Given the description of an element on the screen output the (x, y) to click on. 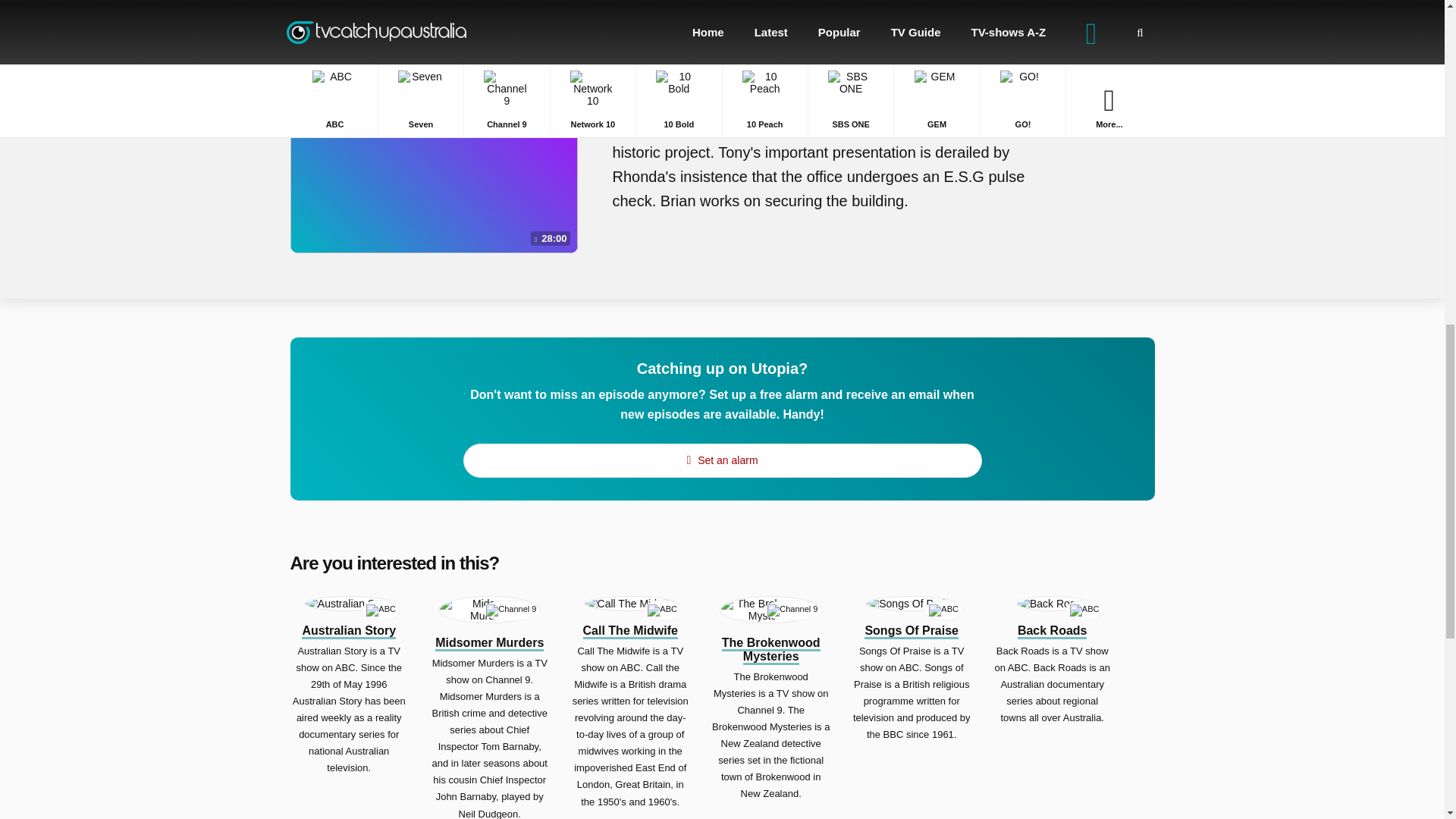
Midsomer Murders (489, 642)
Australian Story (348, 630)
Season 5, Episode 8 - Wide Awoke (829, 99)
Set an alarm (722, 460)
28:00 (433, 153)
